Given the description of an element on the screen output the (x, y) to click on. 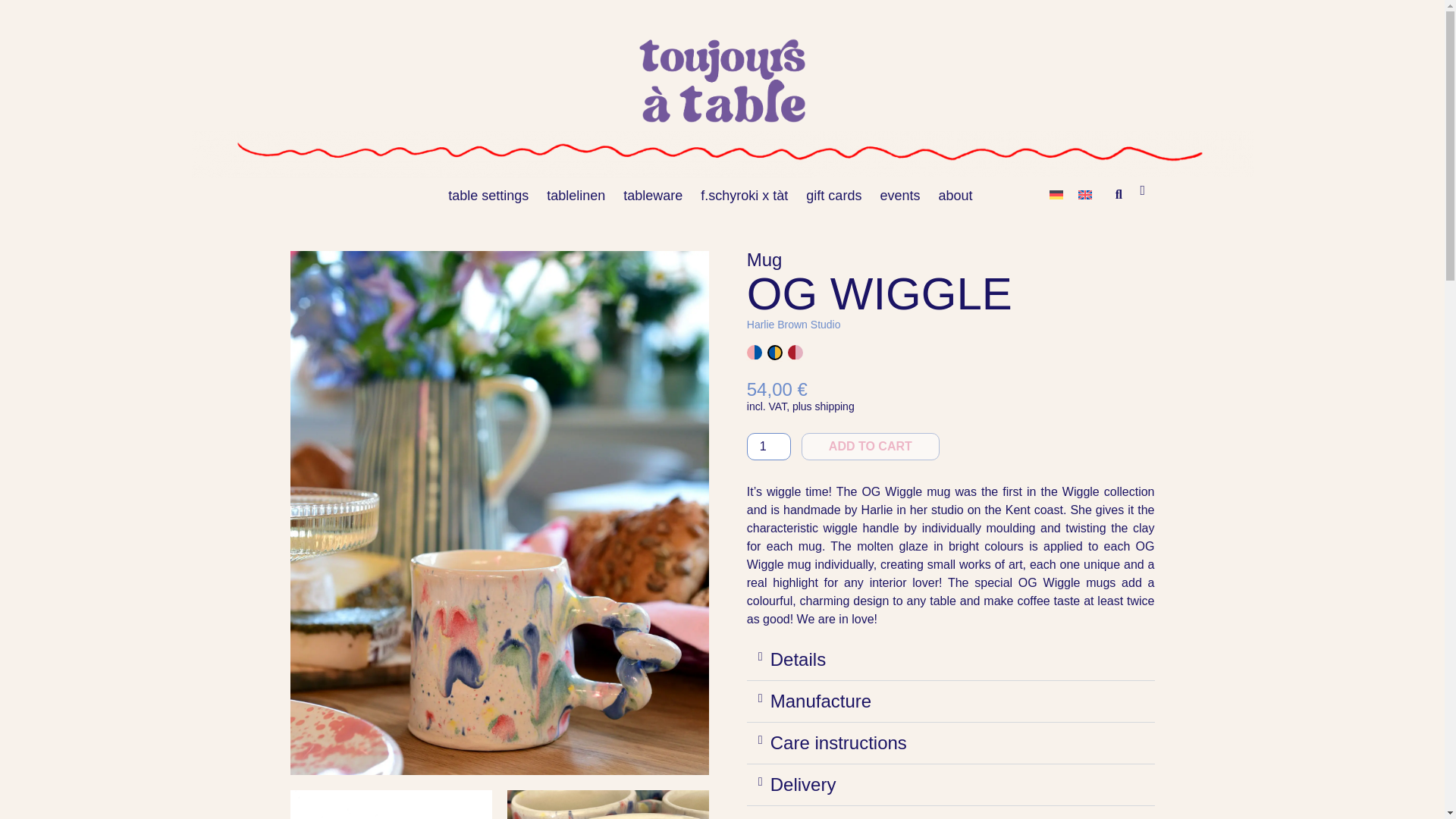
about (954, 195)
1 (768, 446)
pink-red checkered (794, 353)
table settings (488, 195)
tableware (652, 195)
tablelinen (575, 195)
gift cards (833, 195)
events (899, 195)
